Given the description of an element on the screen output the (x, y) to click on. 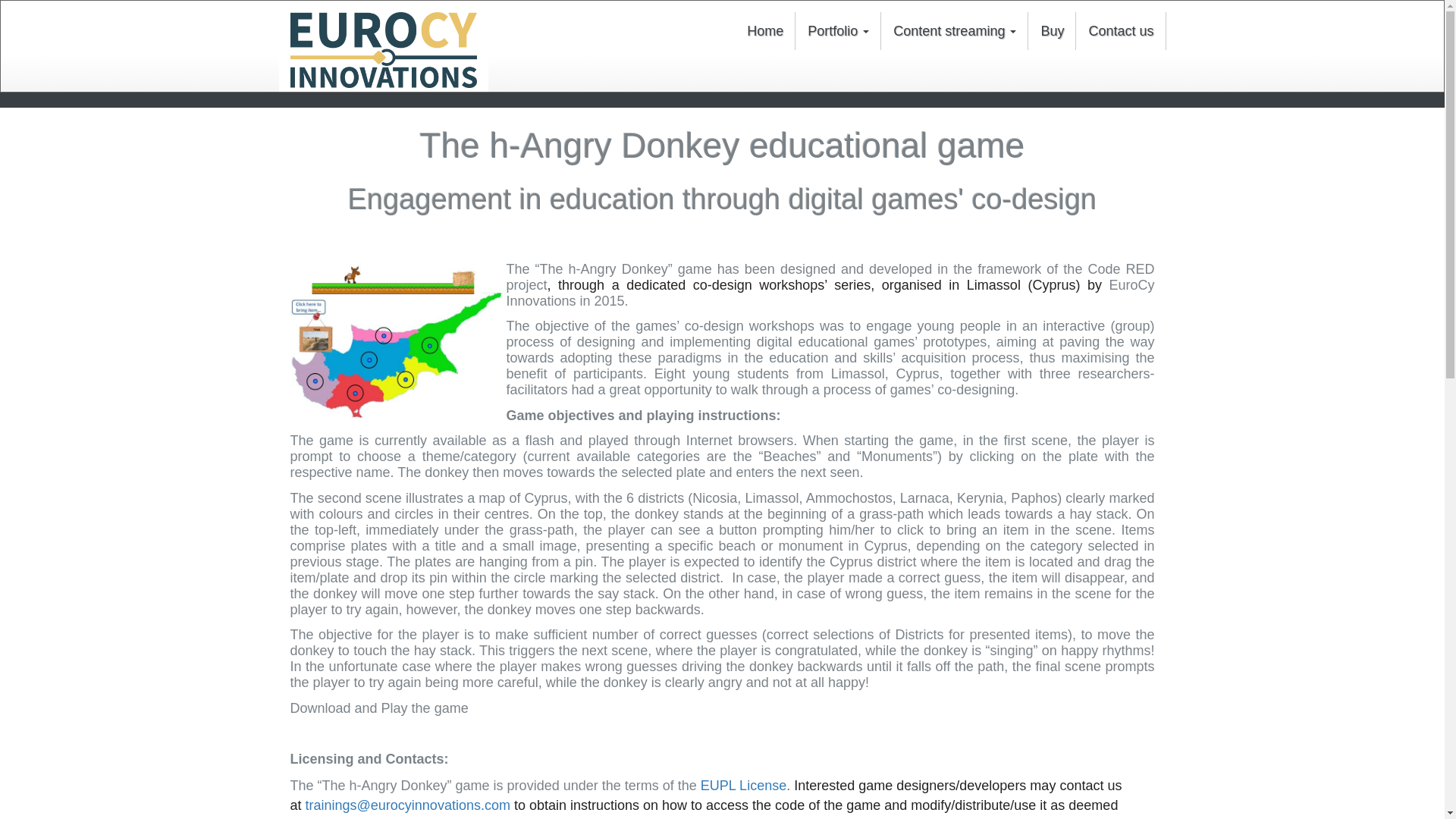
Portfolio (837, 30)
Contact us (1120, 30)
EUPL License (743, 785)
Content streaming (953, 30)
Code RED project (830, 276)
Home (764, 30)
Download and Play the game (378, 708)
Buy (1051, 30)
EuroCy Innovations in 2015. (830, 292)
EUROCY Innovations Ltd (382, 49)
